Given the description of an element on the screen output the (x, y) to click on. 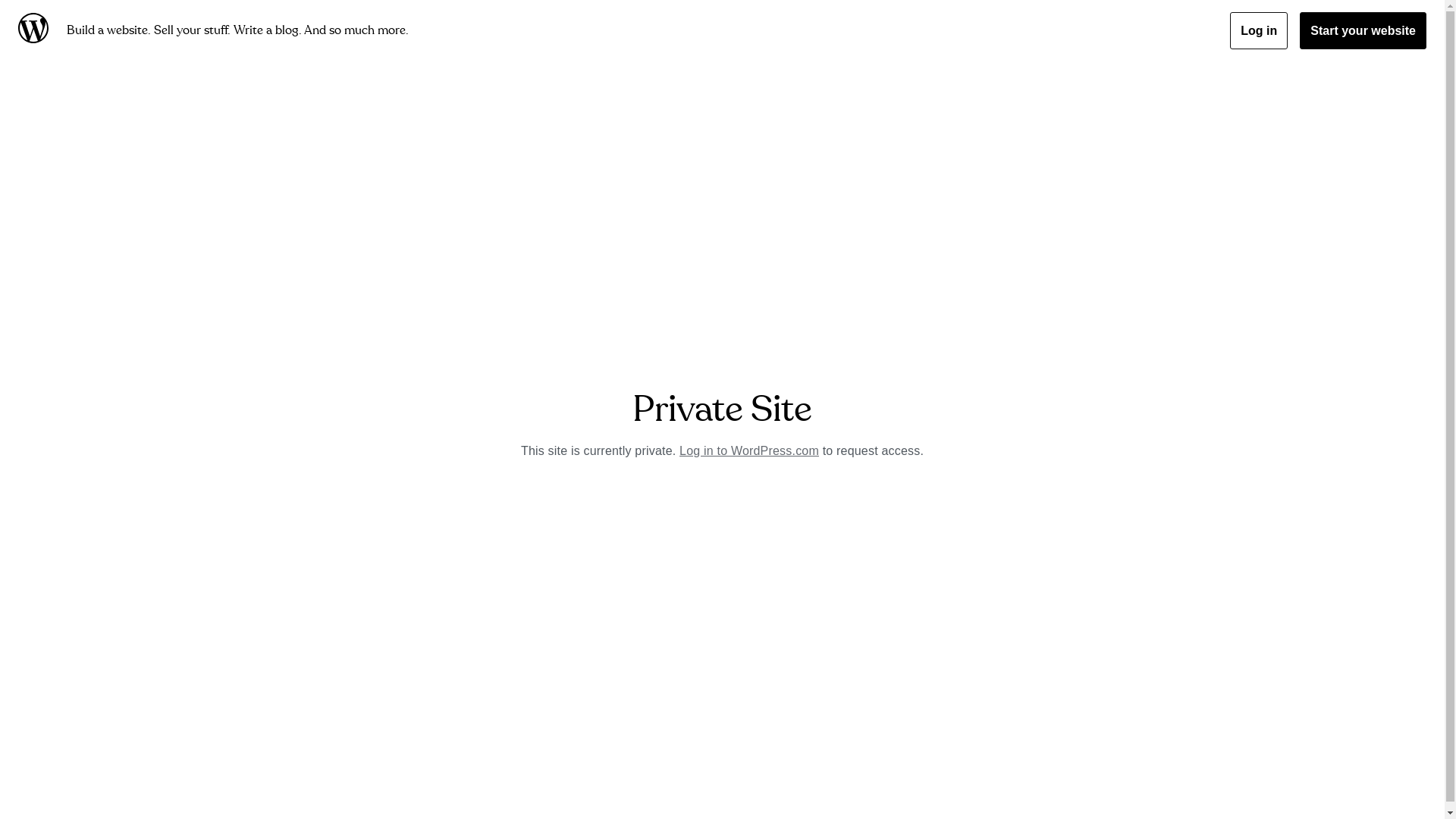
Log in to WordPress.com Element type: text (749, 450)
Start your website Element type: text (1362, 30)
Log in Element type: text (1258, 30)
WordPress.com Element type: text (36, 30)
